Given the description of an element on the screen output the (x, y) to click on. 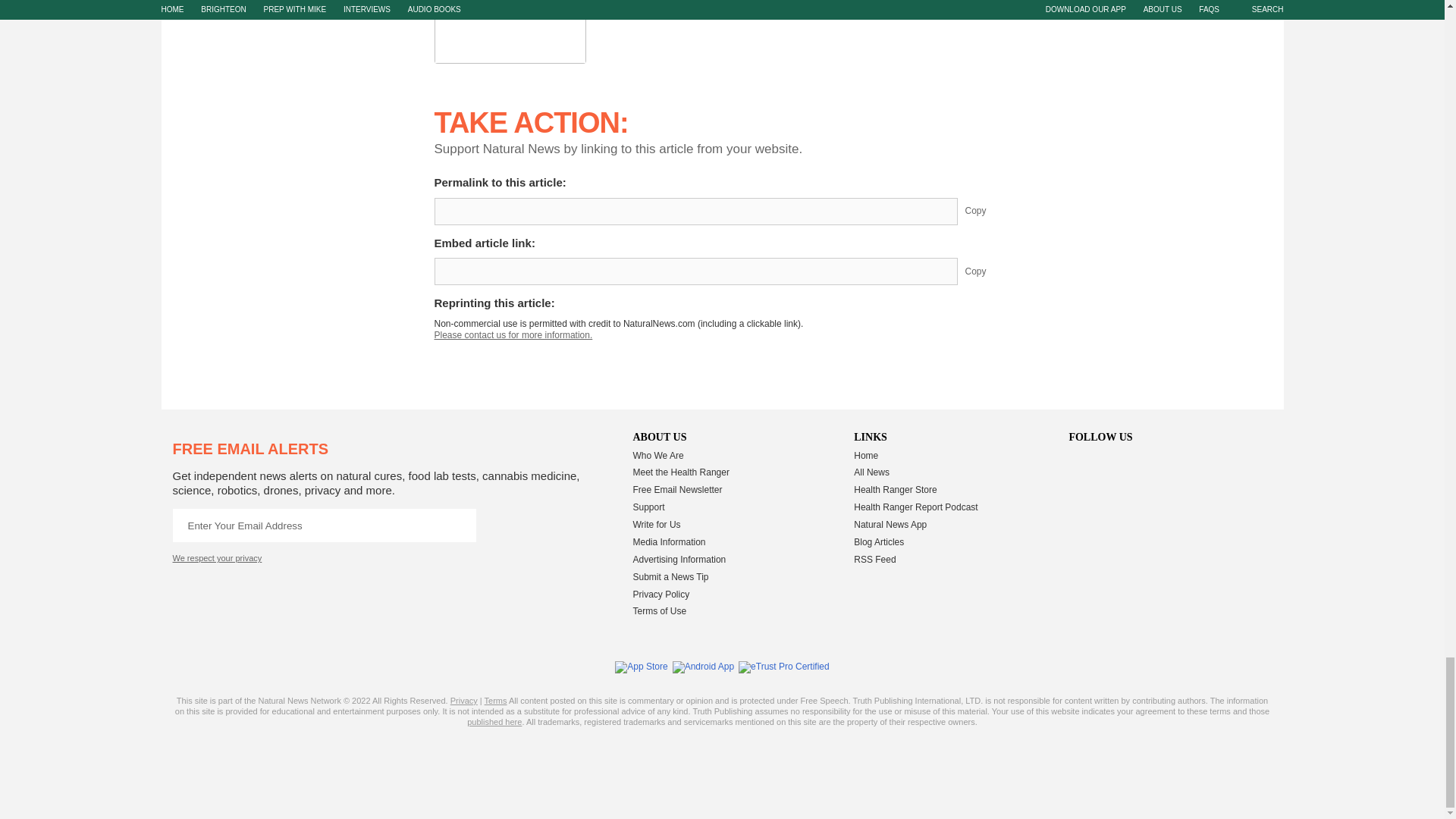
Copy Permalink (986, 211)
Continue (459, 525)
Copy Embed Link (986, 271)
eTrust Pro Certified (783, 666)
